Given the description of an element on the screen output the (x, y) to click on. 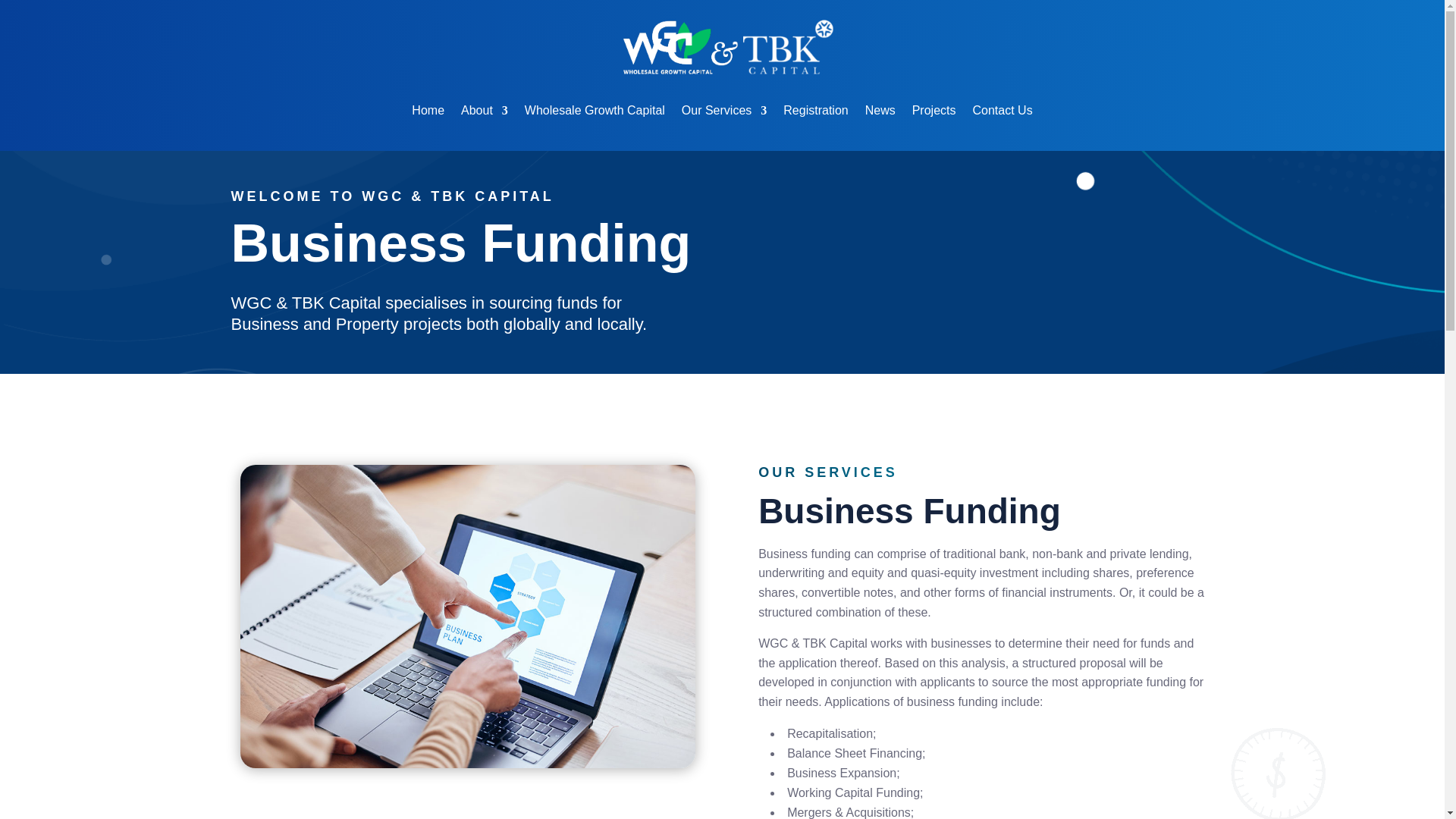
Wholesale Growth Capital (594, 110)
Projects (934, 110)
Home (428, 110)
Contact Us (1002, 110)
Registration (815, 110)
Our Services (724, 110)
About (484, 110)
News (879, 110)
